Given the description of an element on the screen output the (x, y) to click on. 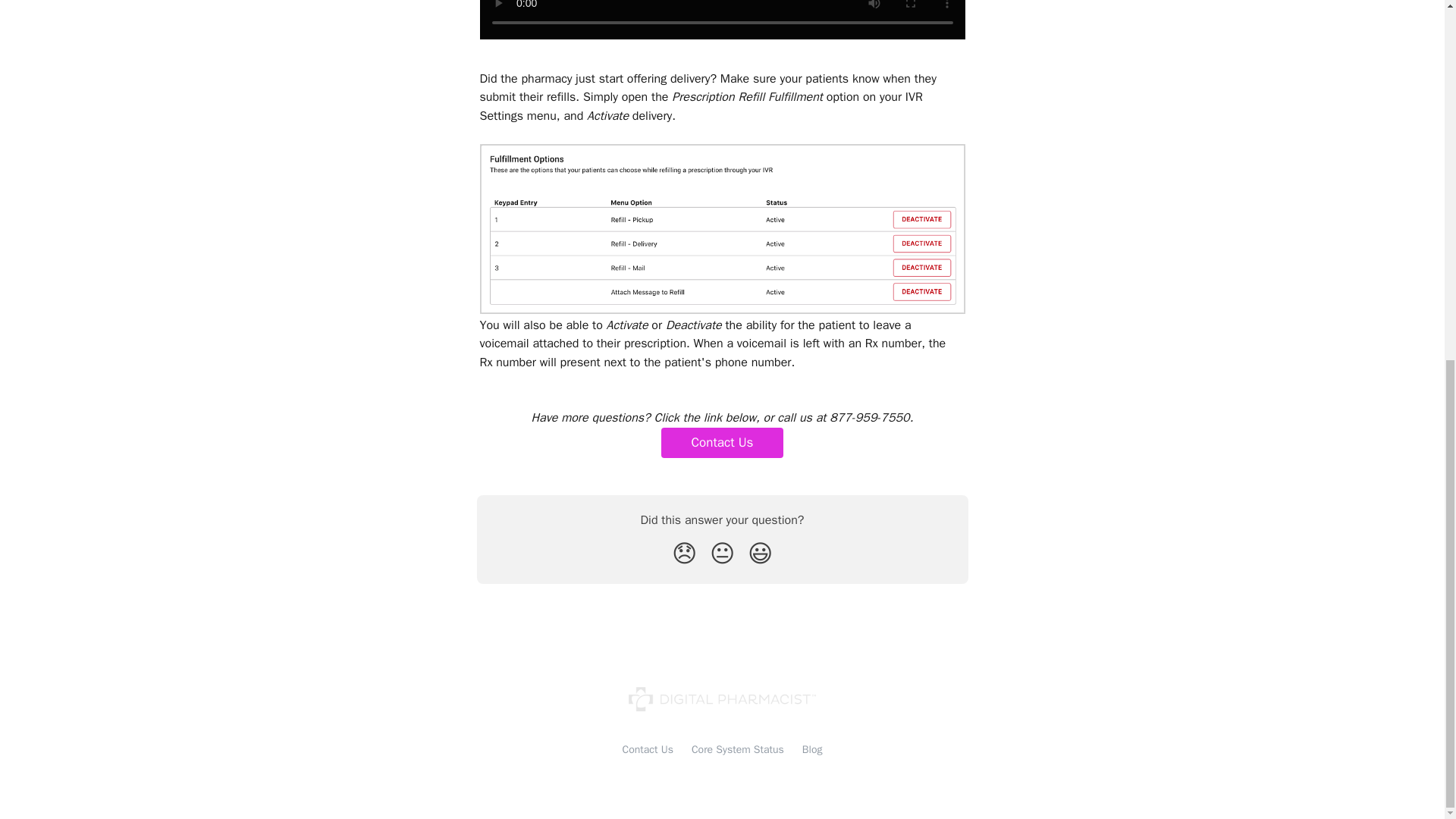
Core System Status (737, 748)
Blog (812, 748)
Contact Us (722, 442)
Contact Us (647, 748)
